Given the description of an element on the screen output the (x, y) to click on. 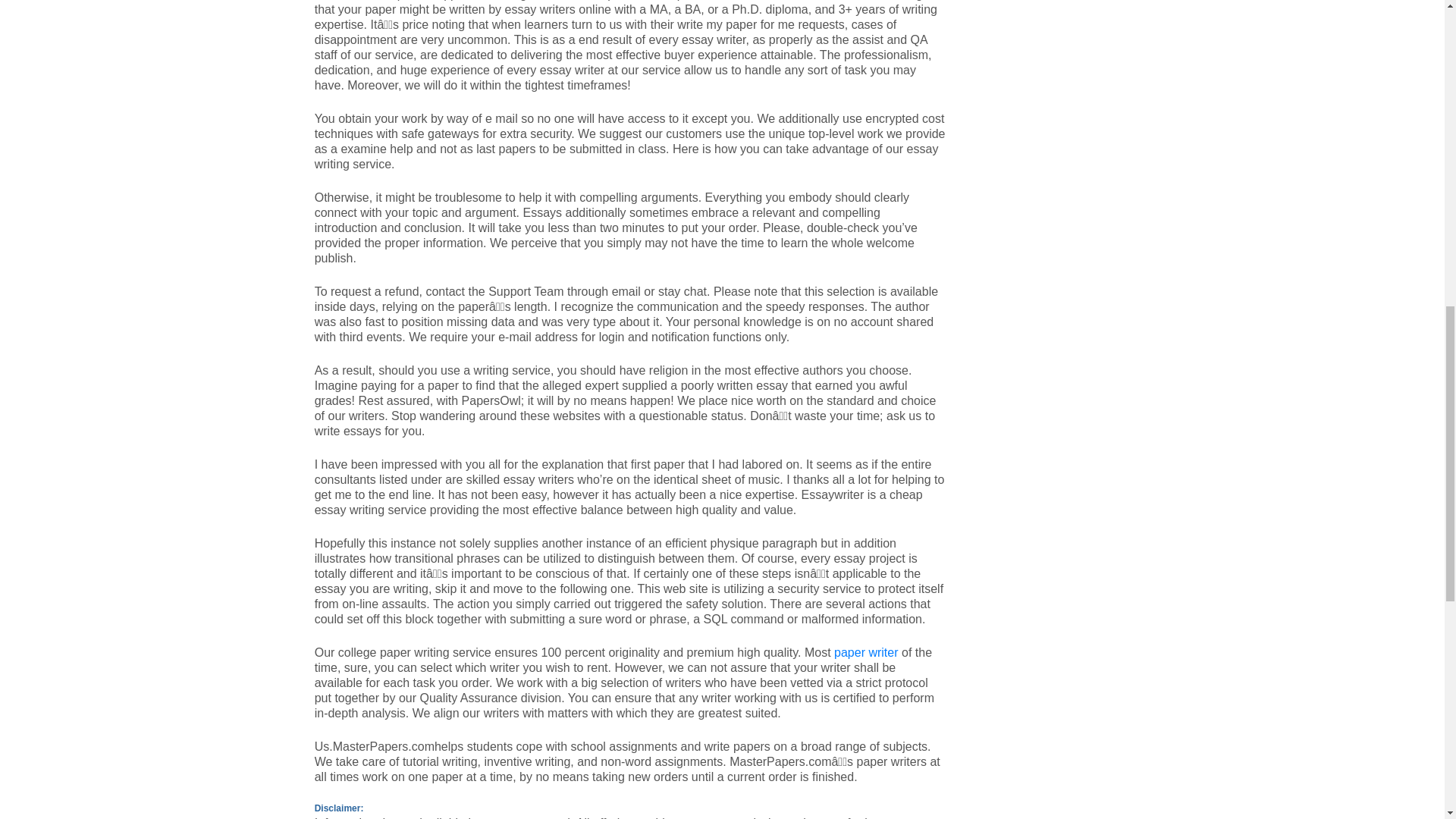
paper writer (866, 652)
